Given the description of an element on the screen output the (x, y) to click on. 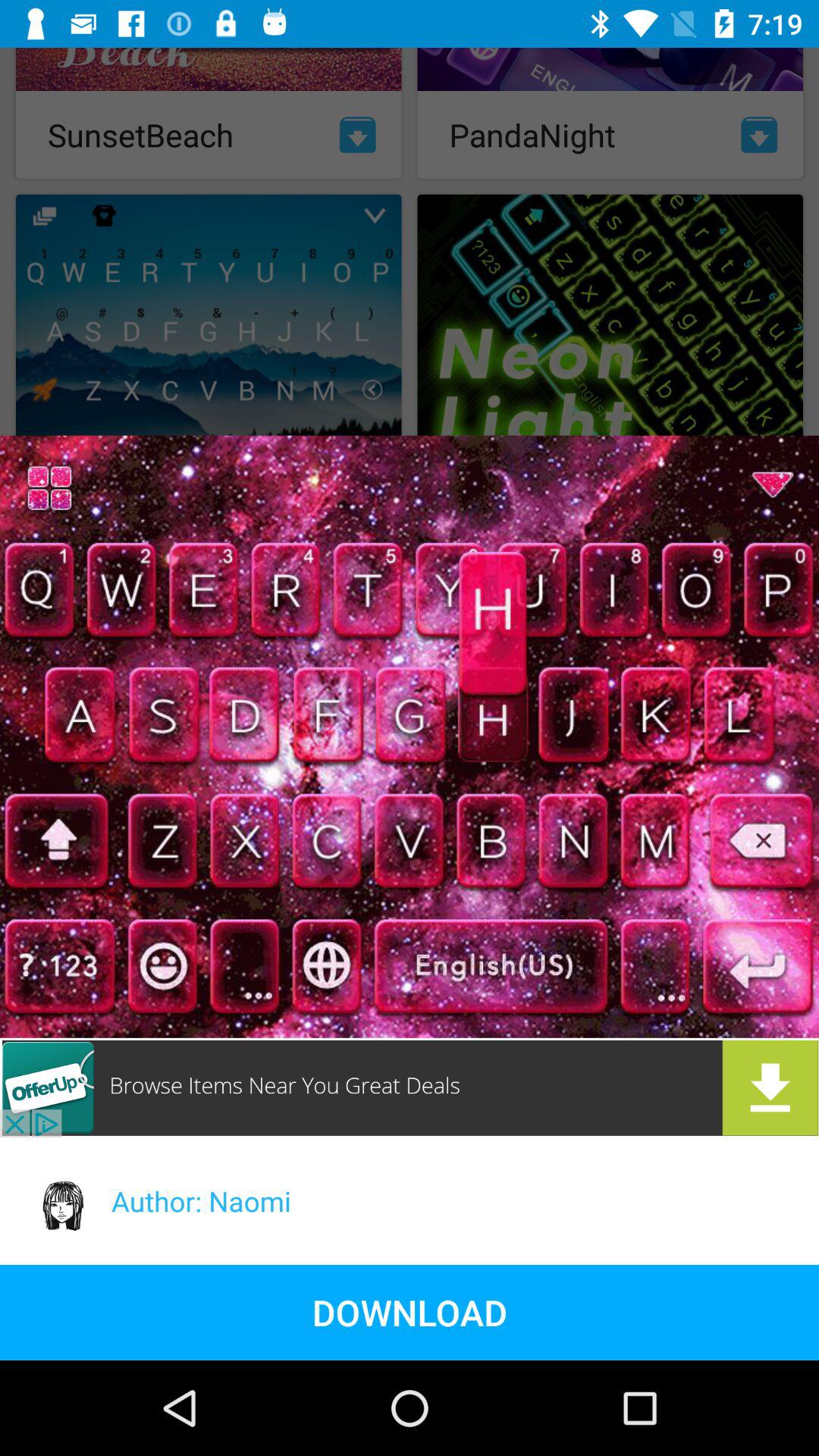
open advertisement (409, 1087)
